Given the description of an element on the screen output the (x, y) to click on. 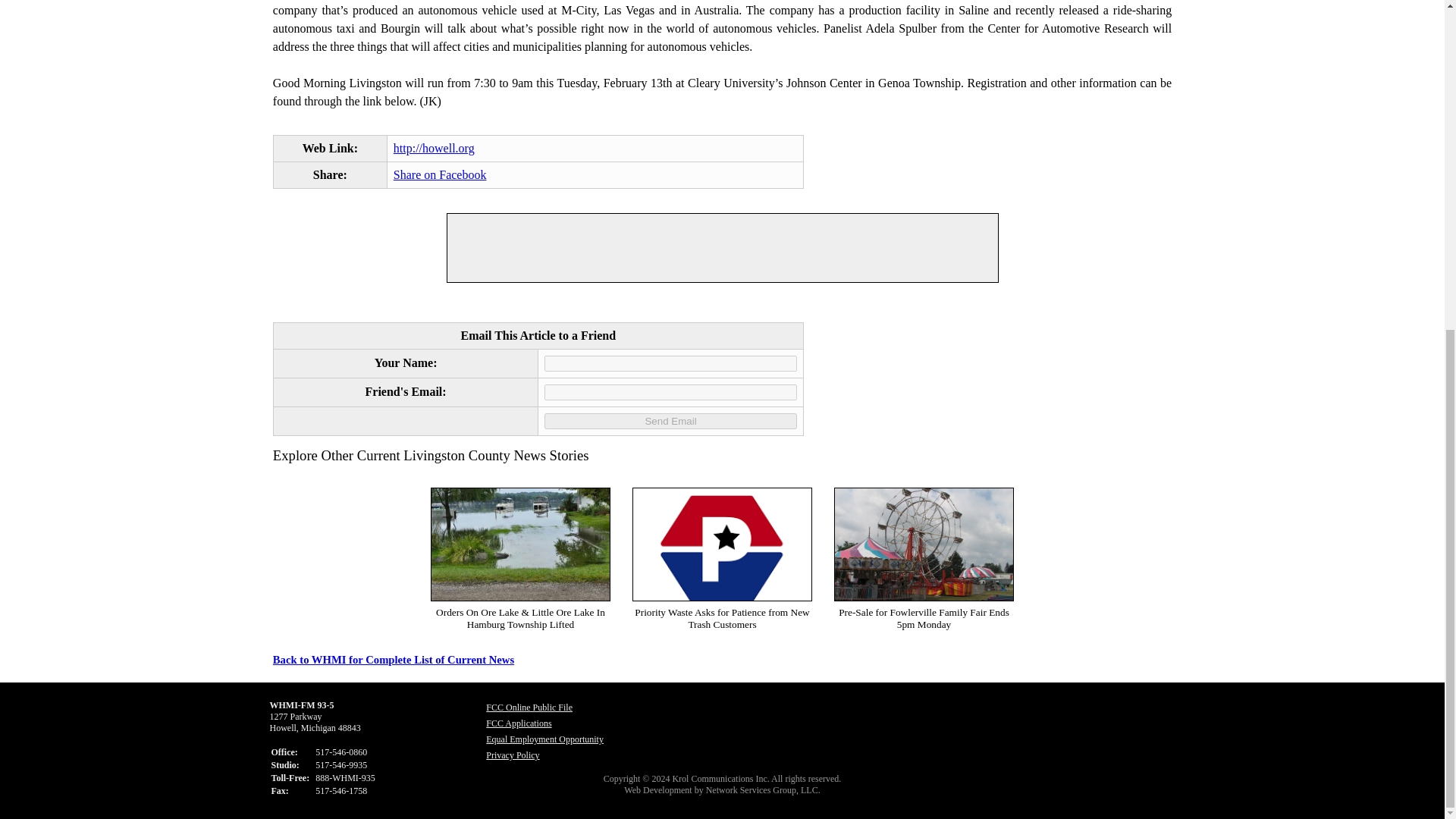
Send Email (670, 421)
